Given the description of an element on the screen output the (x, y) to click on. 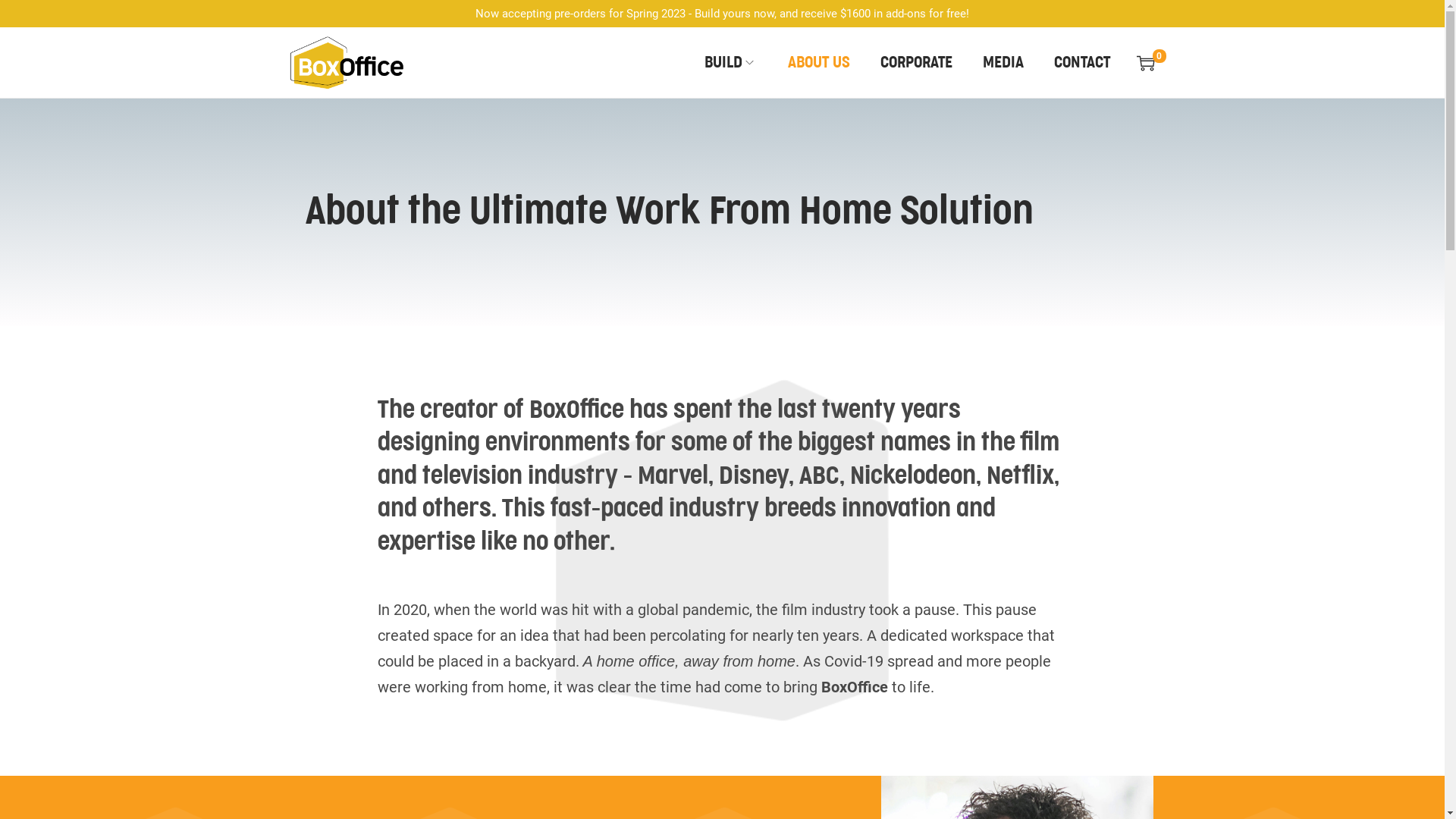
Search Element type: text (950, 428)
0 Element type: text (1144, 62)
ABOUT US Element type: text (818, 62)
CORPORATE Element type: text (915, 62)
BUILD Element type: text (729, 62)
CONTACT Element type: text (1082, 62)
MEDIA Element type: text (1002, 62)
